Given the description of an element on the screen output the (x, y) to click on. 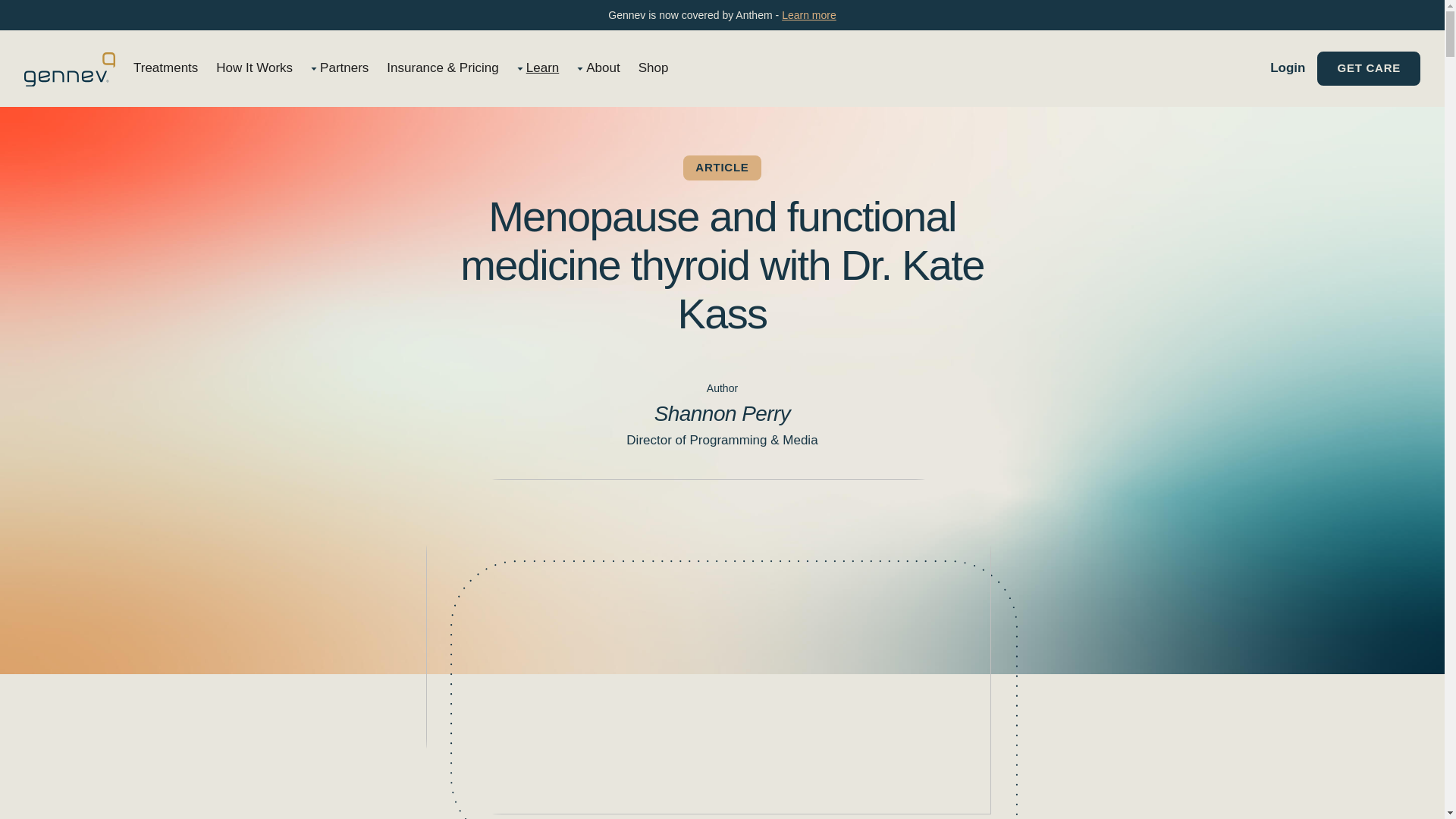
How It Works (253, 67)
Login (1286, 67)
Treatments (165, 67)
GET CARE (1369, 68)
Shop (653, 67)
Learn more (808, 15)
